Given the description of an element on the screen output the (x, y) to click on. 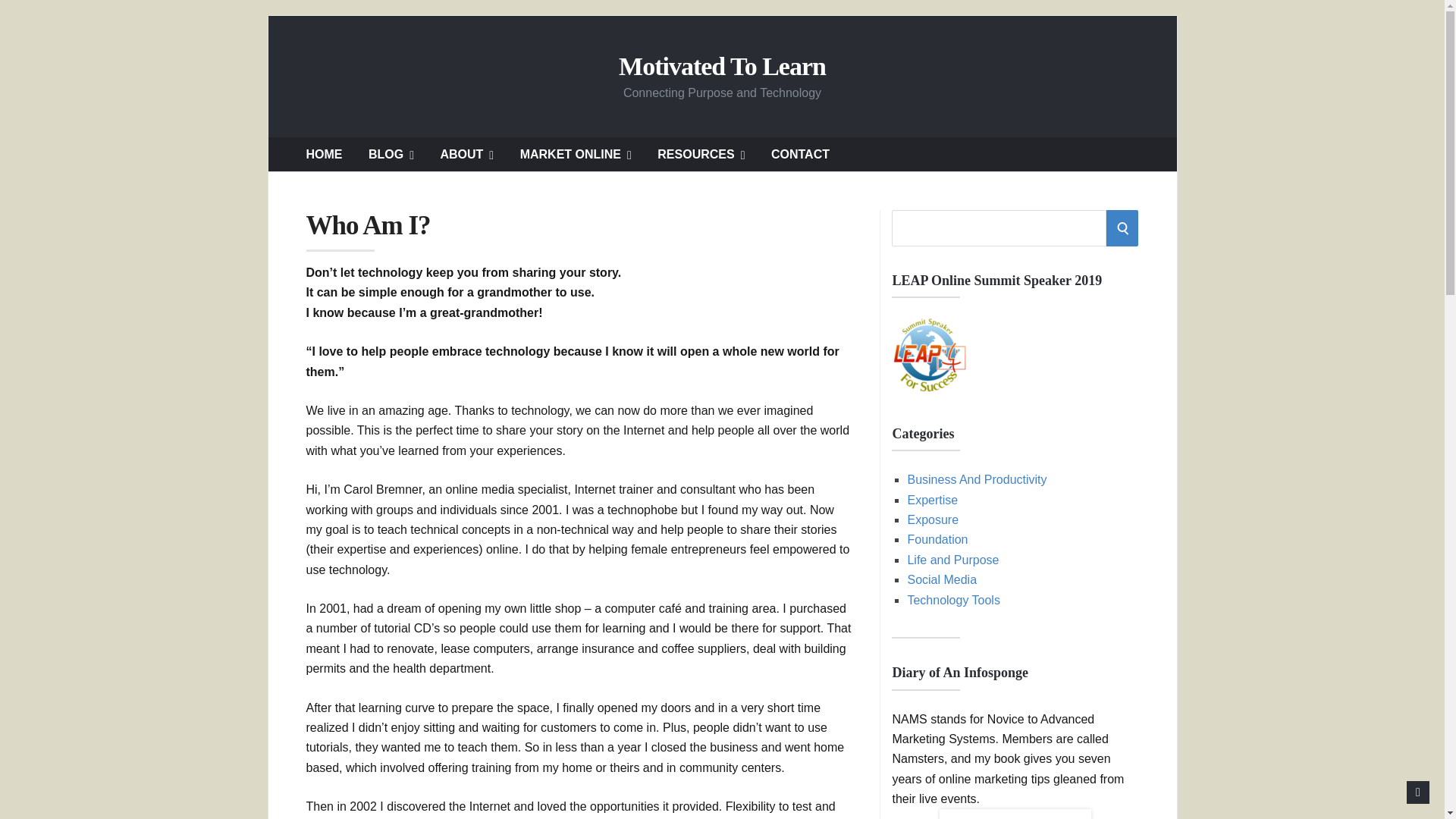
Life and Purpose (952, 559)
HOME (323, 154)
MARKET ONLINE (575, 154)
Business And Productivity (976, 479)
ABOUT (466, 154)
Exposure (932, 519)
CONTACT (800, 154)
Technology Tools (952, 599)
RESOURCES (701, 154)
Foundation (937, 539)
BLOG (390, 154)
Expertise (932, 499)
Social Media (941, 579)
Motivated To Learn (721, 66)
